Given the description of an element on the screen output the (x, y) to click on. 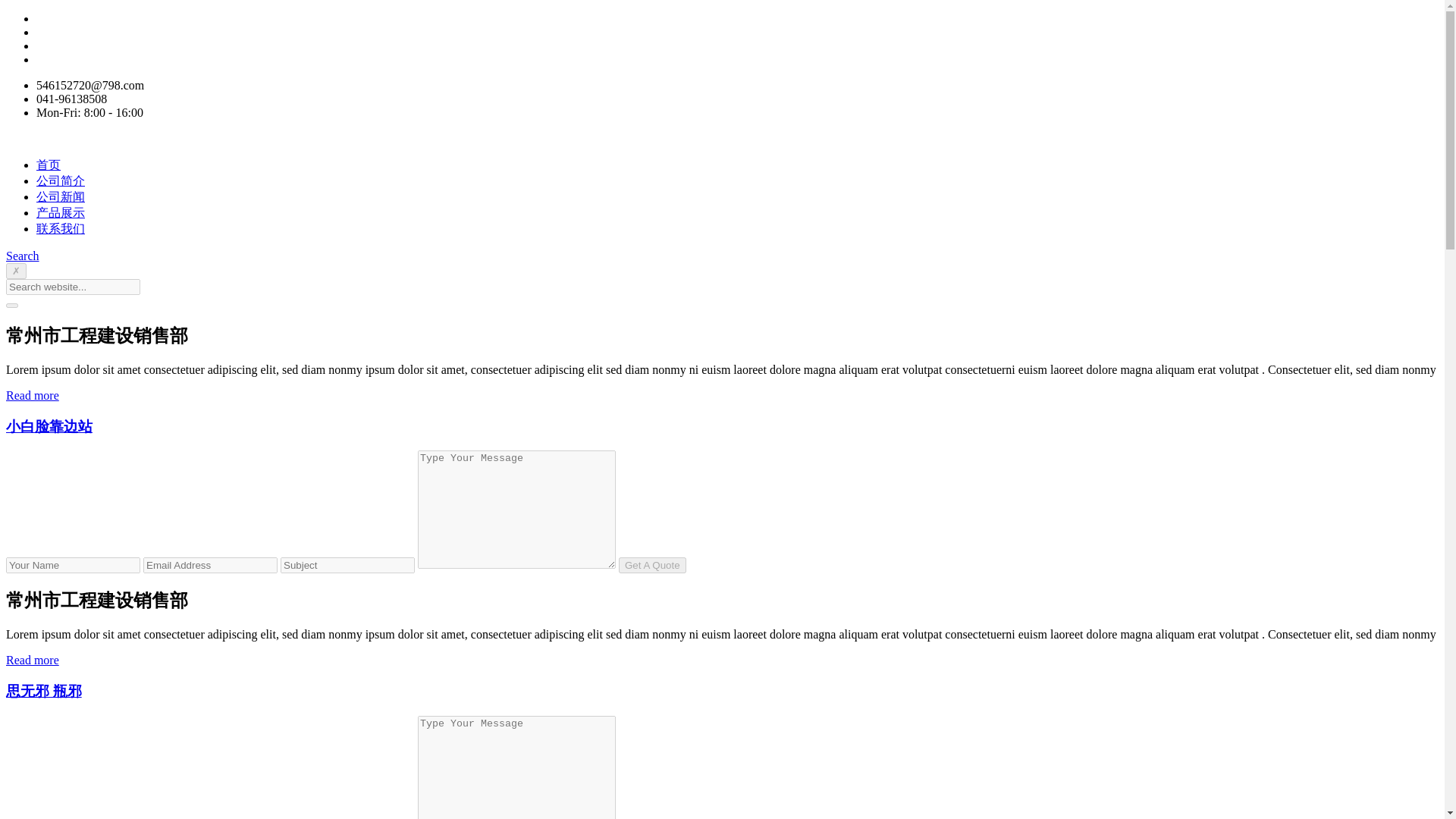
Read more (32, 395)
Read more (32, 659)
Get A Quote (651, 565)
Search (22, 255)
Get A Quote (651, 565)
